Given the description of an element on the screen output the (x, y) to click on. 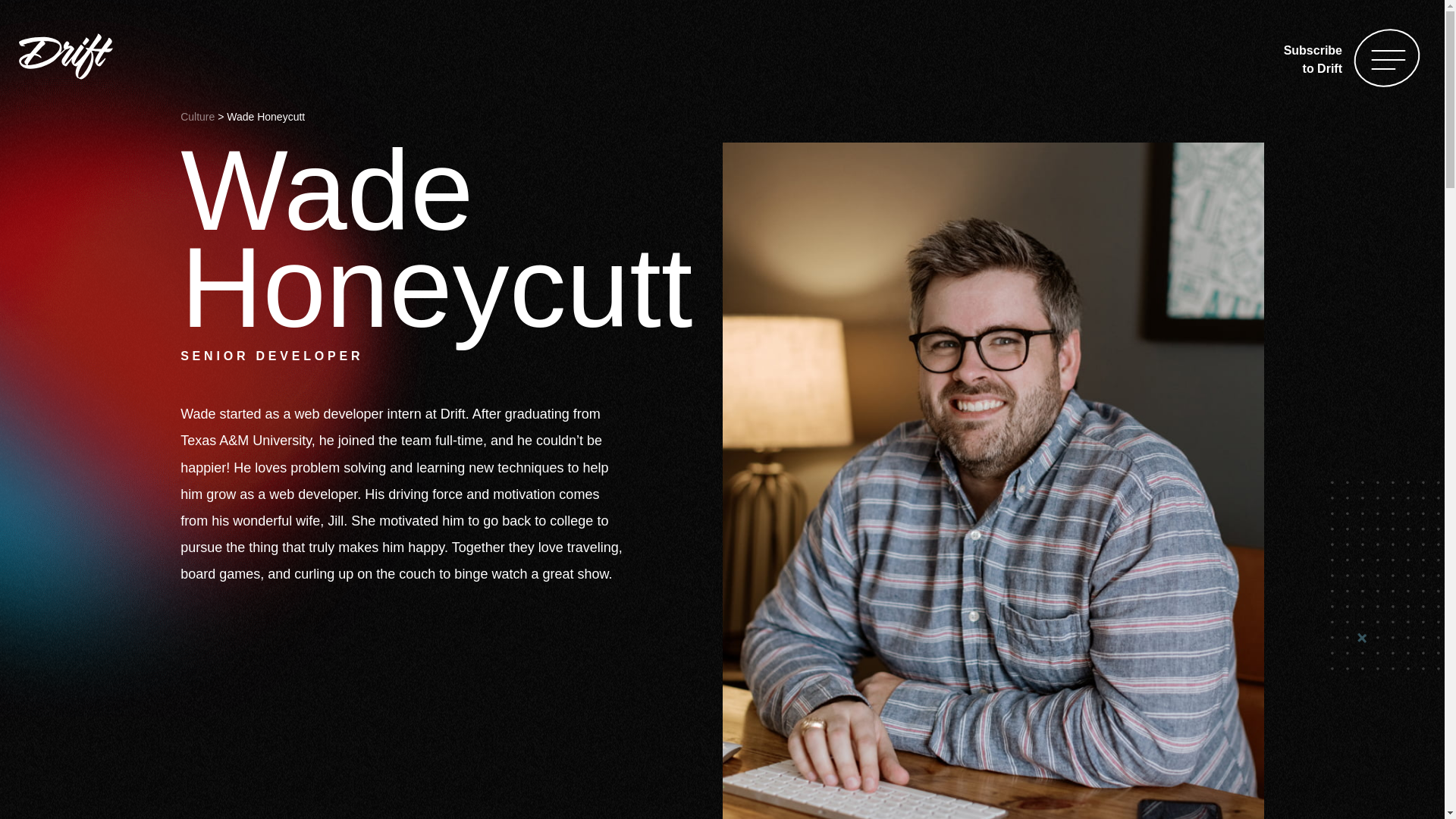
Culture (197, 116)
